Given the description of an element on the screen output the (x, y) to click on. 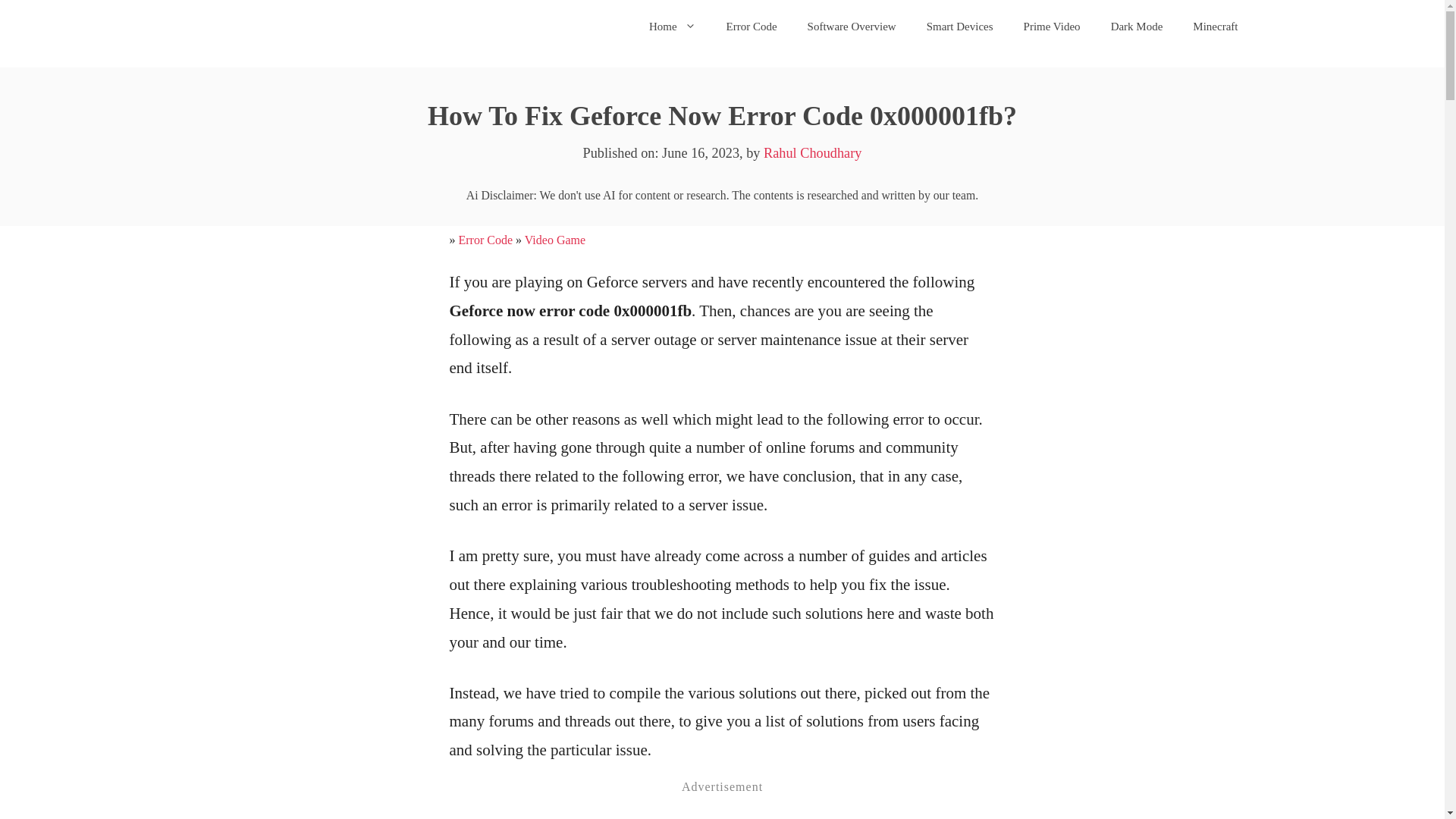
Minecraft (1214, 26)
Error Code (485, 239)
Rahul Choudhary (811, 152)
Software Overview (851, 26)
View all posts by Rahul Choudhary (811, 152)
Home (672, 26)
Prime Video (1052, 26)
Smart Devices (960, 26)
Error Code (751, 26)
Video Game (554, 239)
